Given the description of an element on the screen output the (x, y) to click on. 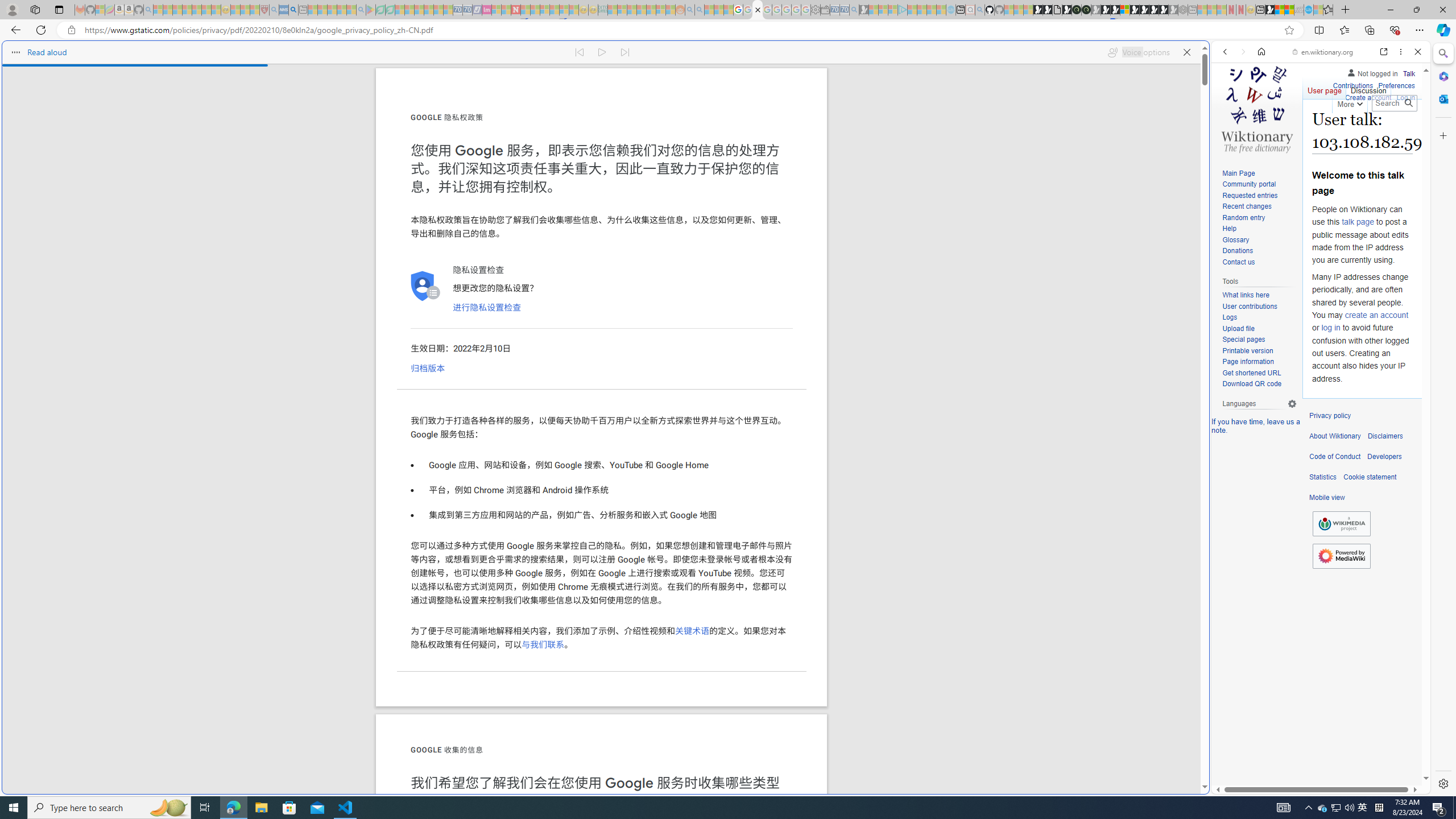
Disclaimers (1385, 436)
Search Filter, WEB (1230, 129)
Settings - Sleeping (815, 9)
